Given the description of an element on the screen output the (x, y) to click on. 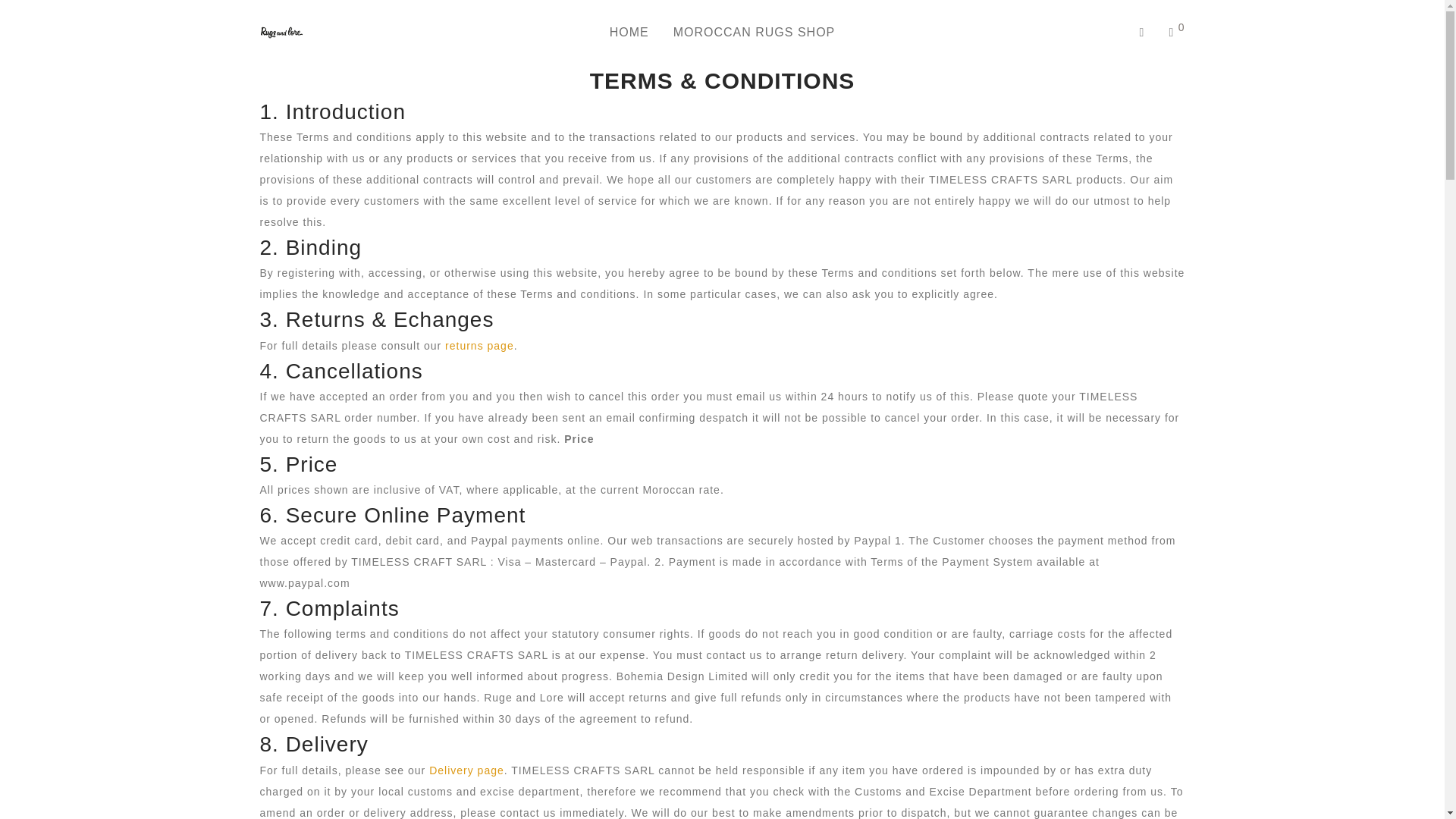
Delivery page (466, 770)
Delivery (466, 770)
returns page (479, 345)
HOME (628, 32)
Returns (479, 345)
0 (1176, 32)
MOROCCAN RUGS SHOP (754, 32)
